Given the description of an element on the screen output the (x, y) to click on. 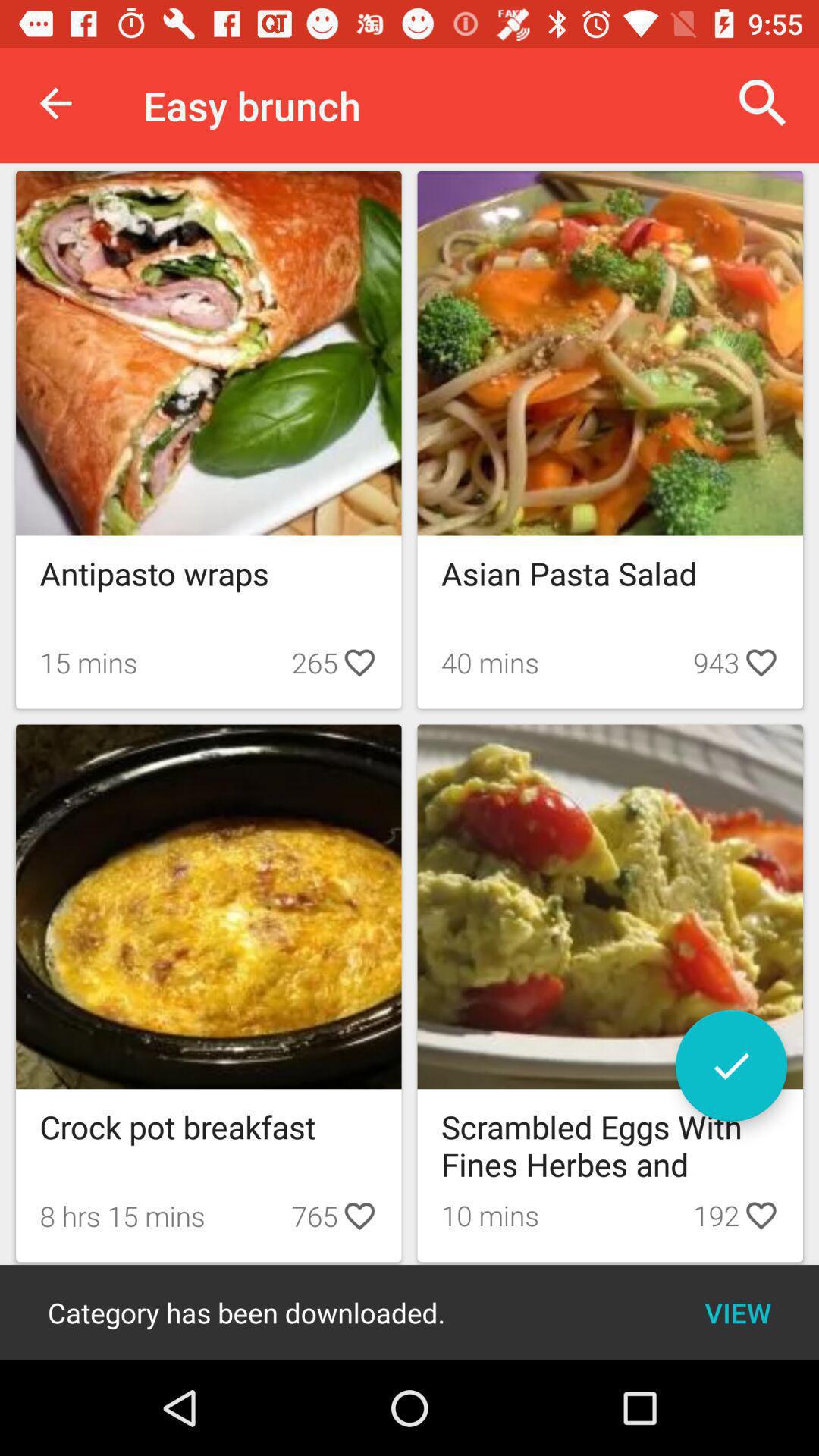
tap the item next to easy brunch icon (763, 103)
